Given the description of an element on the screen output the (x, y) to click on. 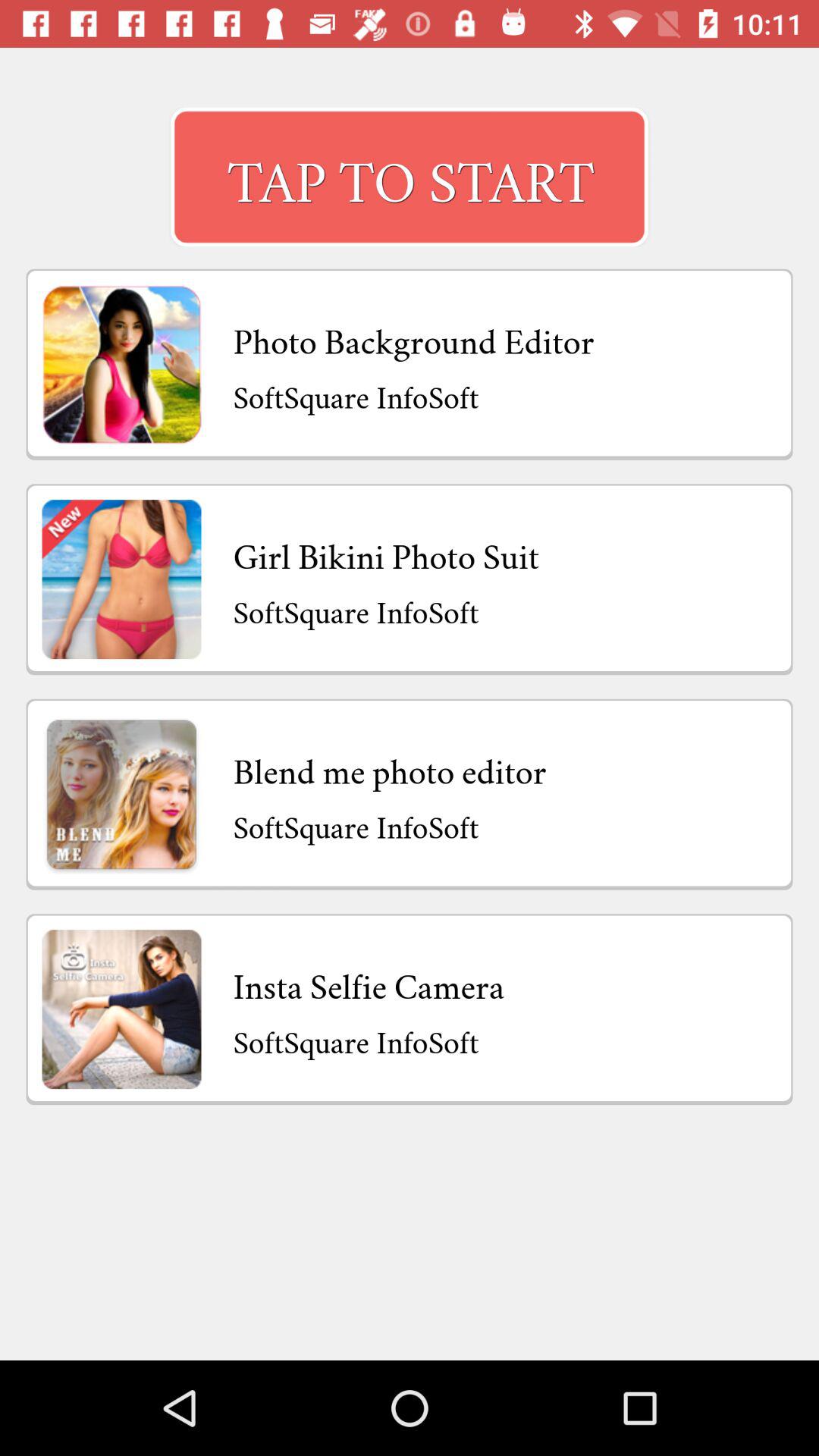
scroll to girl bikini photo item (386, 552)
